Given the description of an element on the screen output the (x, y) to click on. 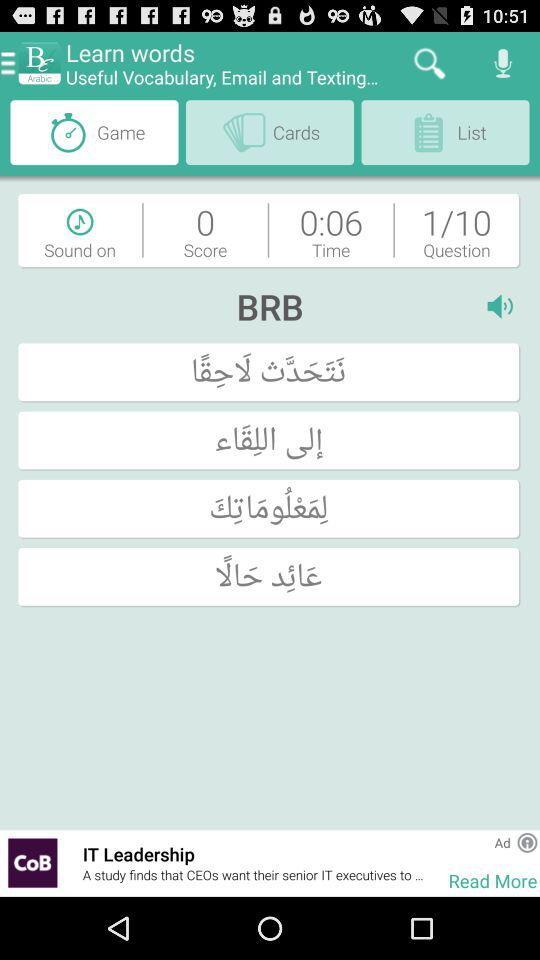
click the item above a study finds item (255, 853)
